Given the description of an element on the screen output the (x, y) to click on. 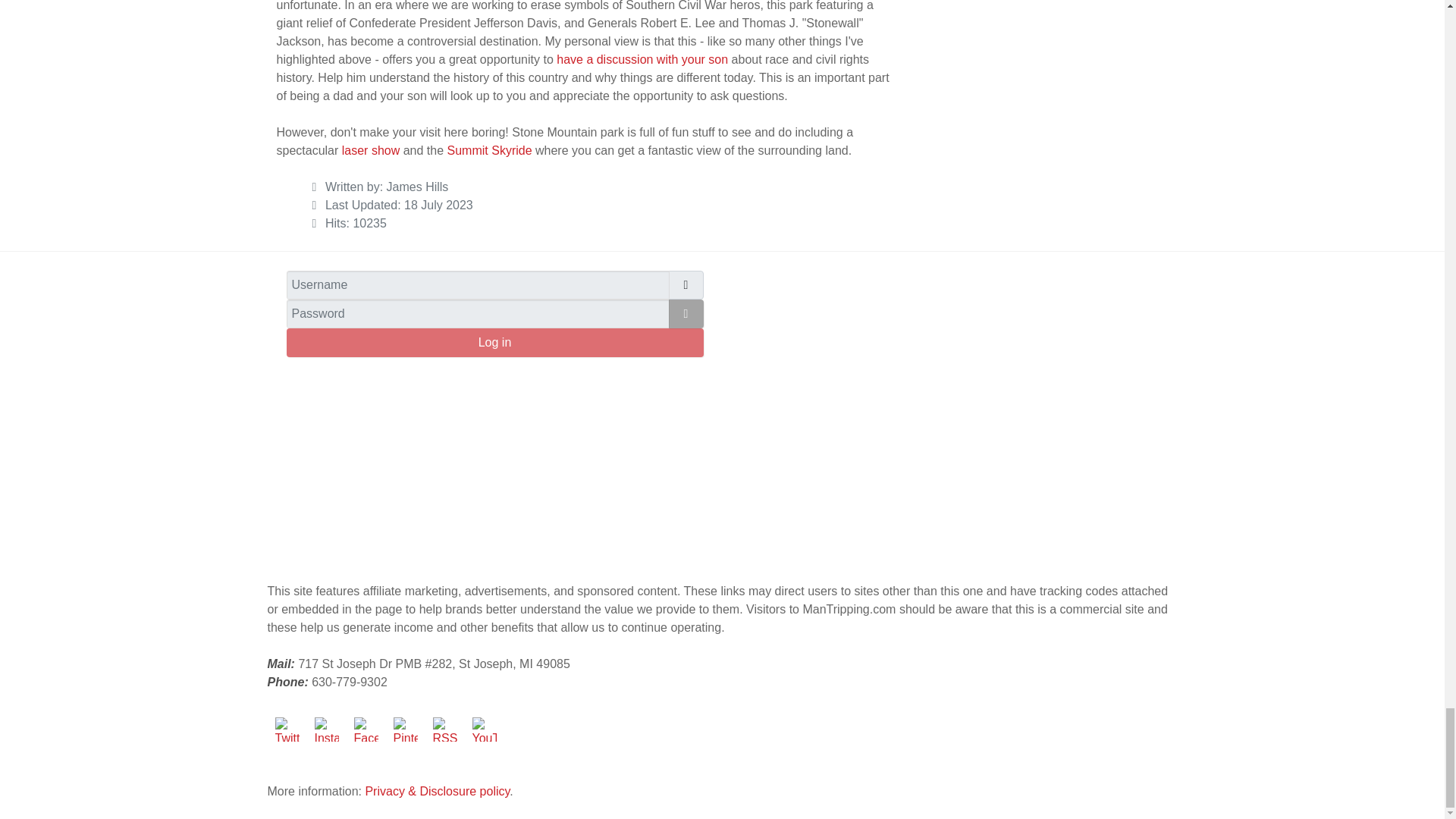
Summit Skyride (489, 150)
Username (685, 285)
have a discussion with your son (642, 59)
laser show (370, 150)
